Given the description of an element on the screen output the (x, y) to click on. 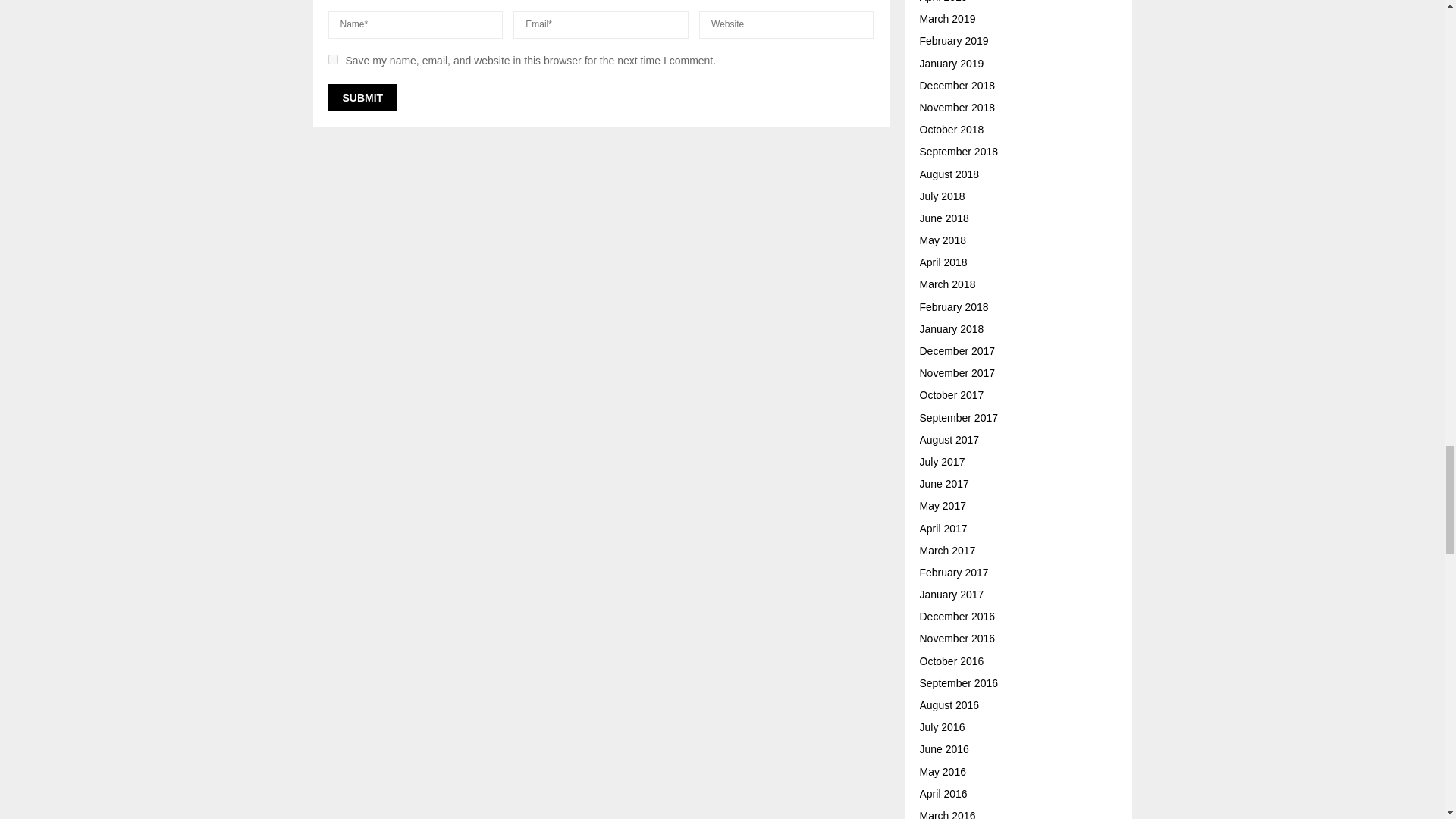
Submit (362, 97)
yes (332, 59)
